Given the description of an element on the screen output the (x, y) to click on. 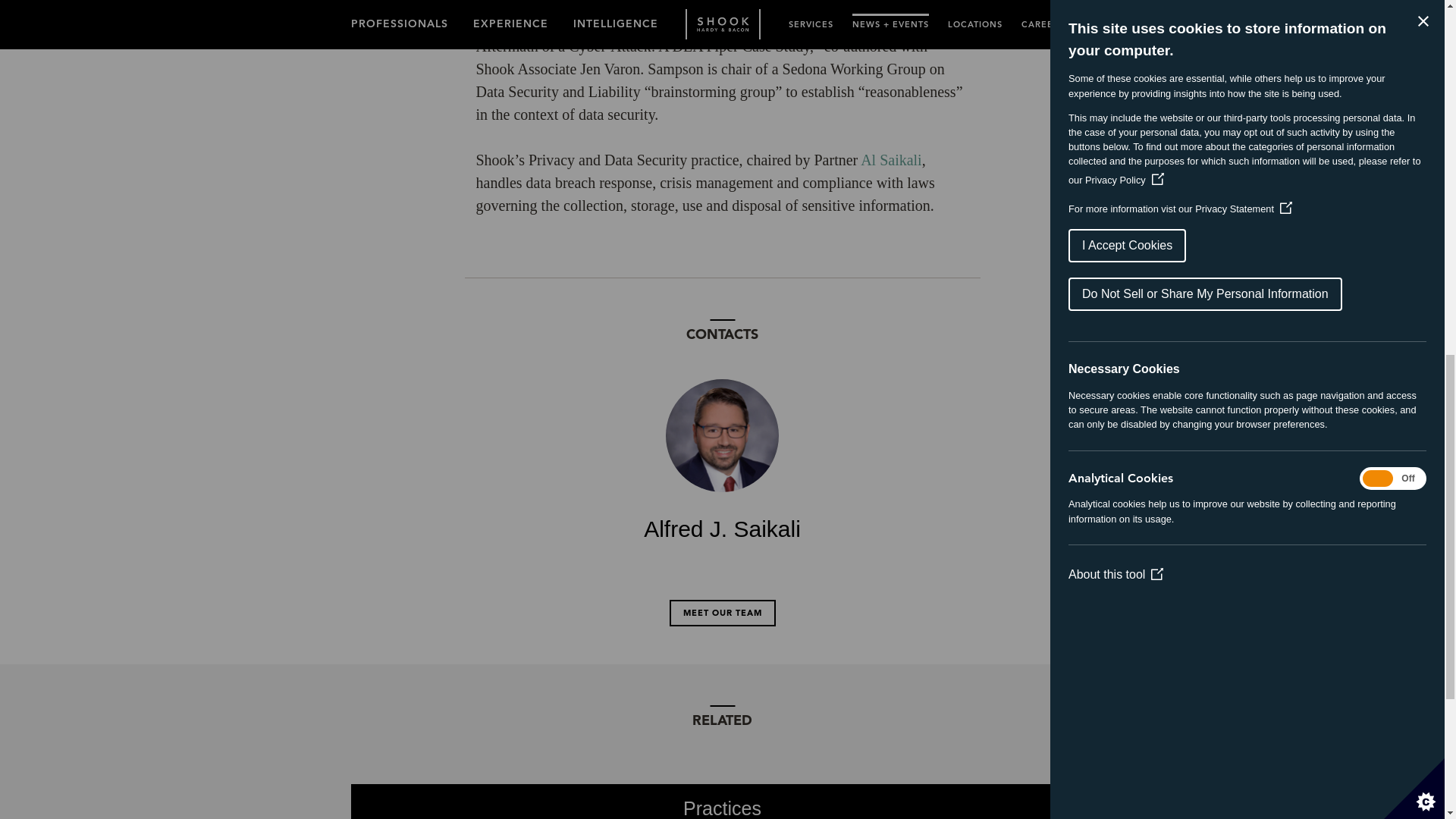
Alfred J. Saikali (721, 460)
MEET OUR TEAM (721, 612)
Al Saikali (890, 159)
